Given the description of an element on the screen output the (x, y) to click on. 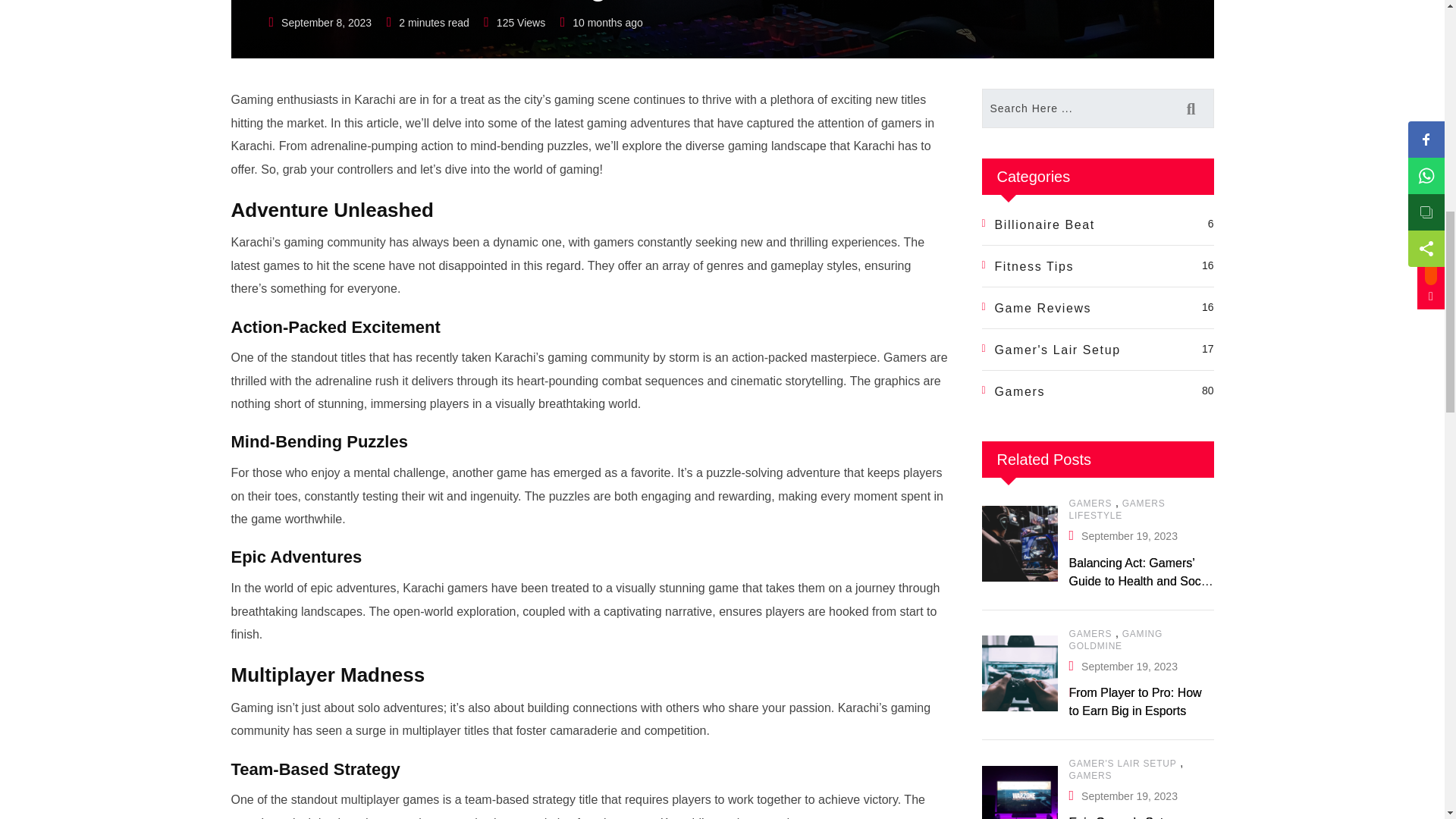
From Player to Pro: How to Earn Big in Esports (1019, 673)
